Given the description of an element on the screen output the (x, y) to click on. 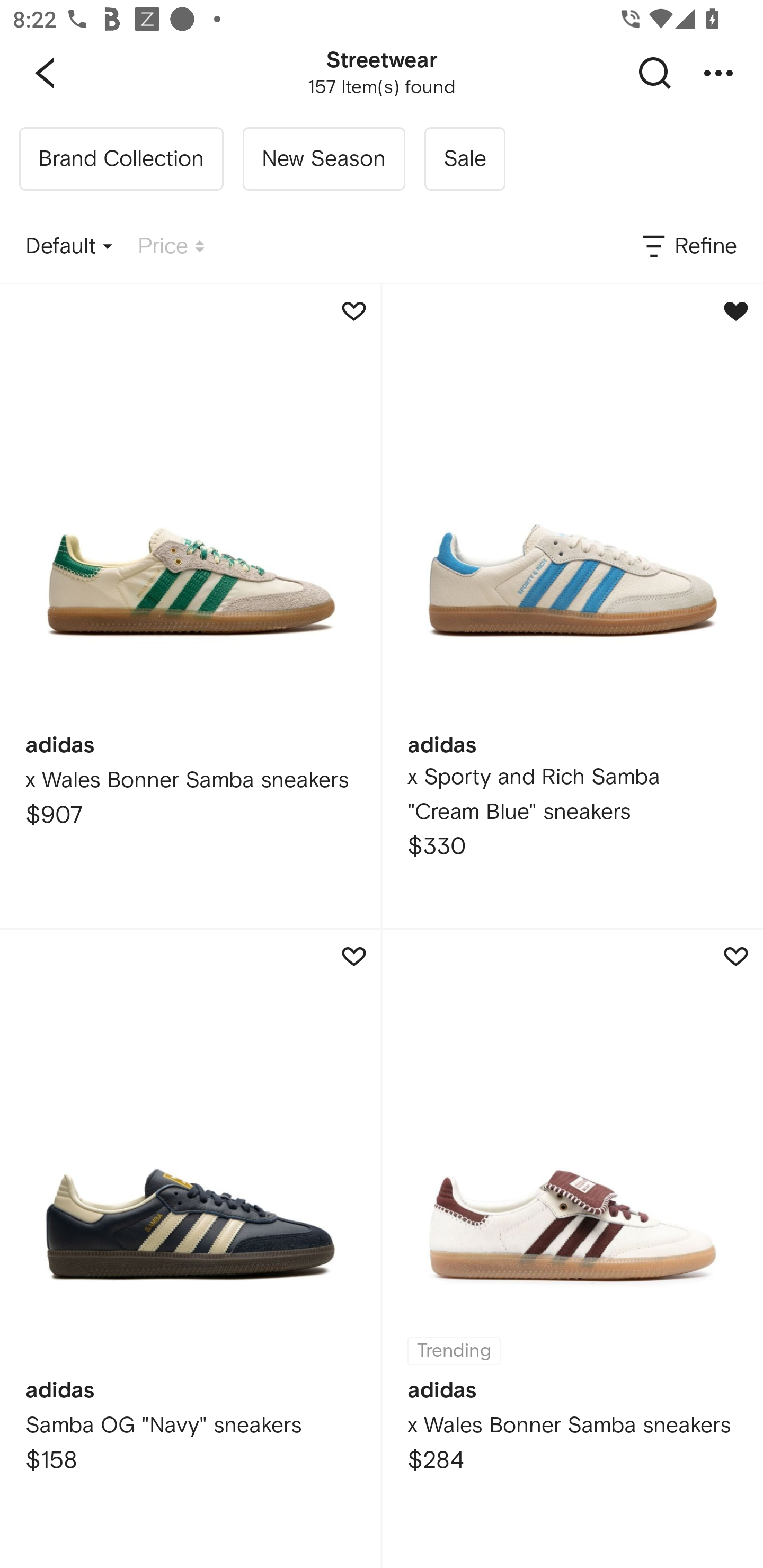
Brand Collection (121, 158)
New Season (323, 158)
Sale (464, 158)
Default (68, 246)
Price (171, 246)
Refine (688, 246)
adidas x Wales Bonner Samba sneakers $907 (190, 605)
adidas Samba OG "Navy" sneakers $158 (190, 1248)
Trending adidas x Wales Bonner Samba sneakers $284 (572, 1248)
